Given the description of an element on the screen output the (x, y) to click on. 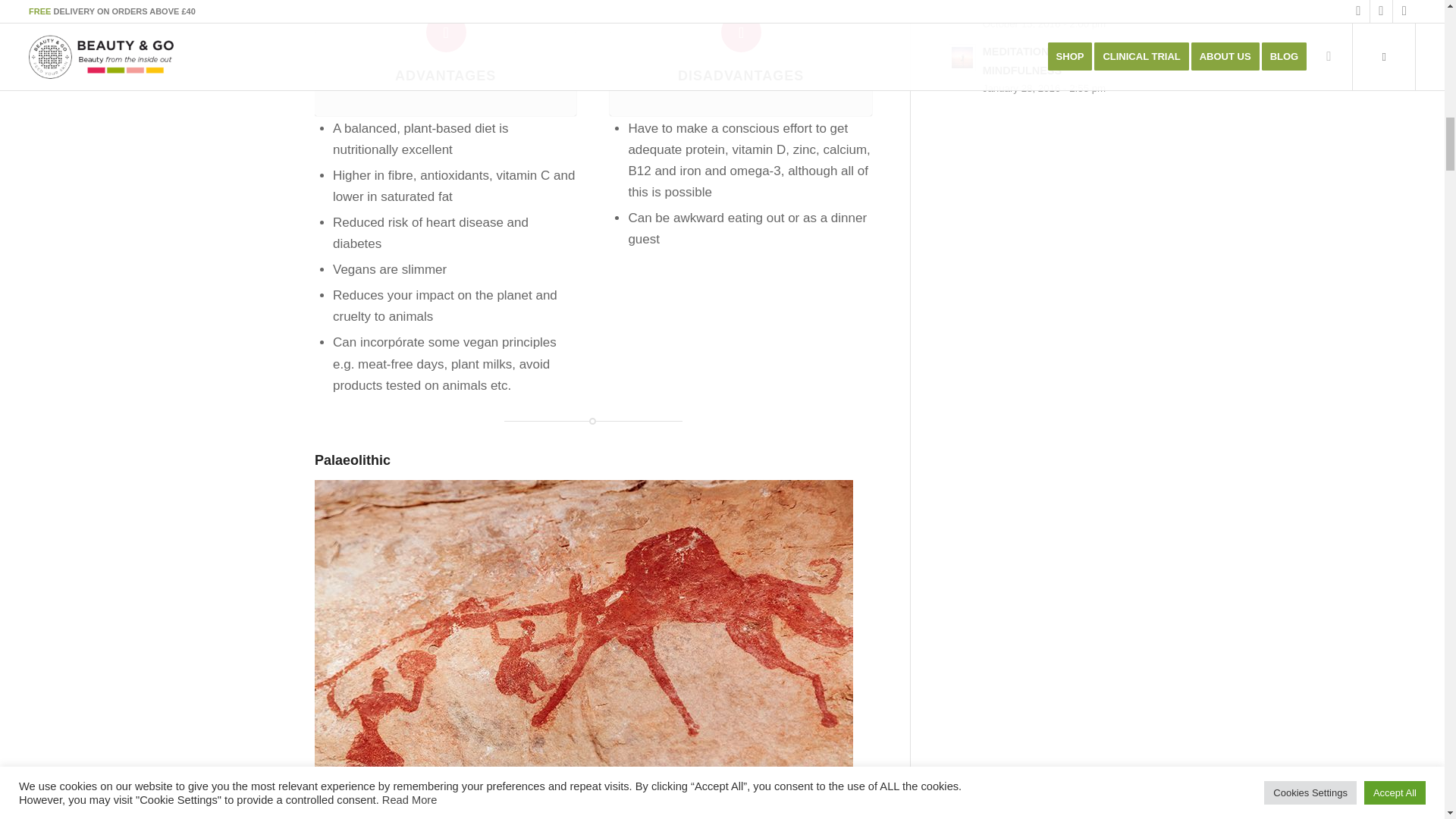
MEDITATION AND MINDFULNESS (1028, 60)
Read: Improved formula for more skin enhancing benefits (962, 3)
Improved formula for more skin enhancing benefits (1052, 6)
